Given the description of an element on the screen output the (x, y) to click on. 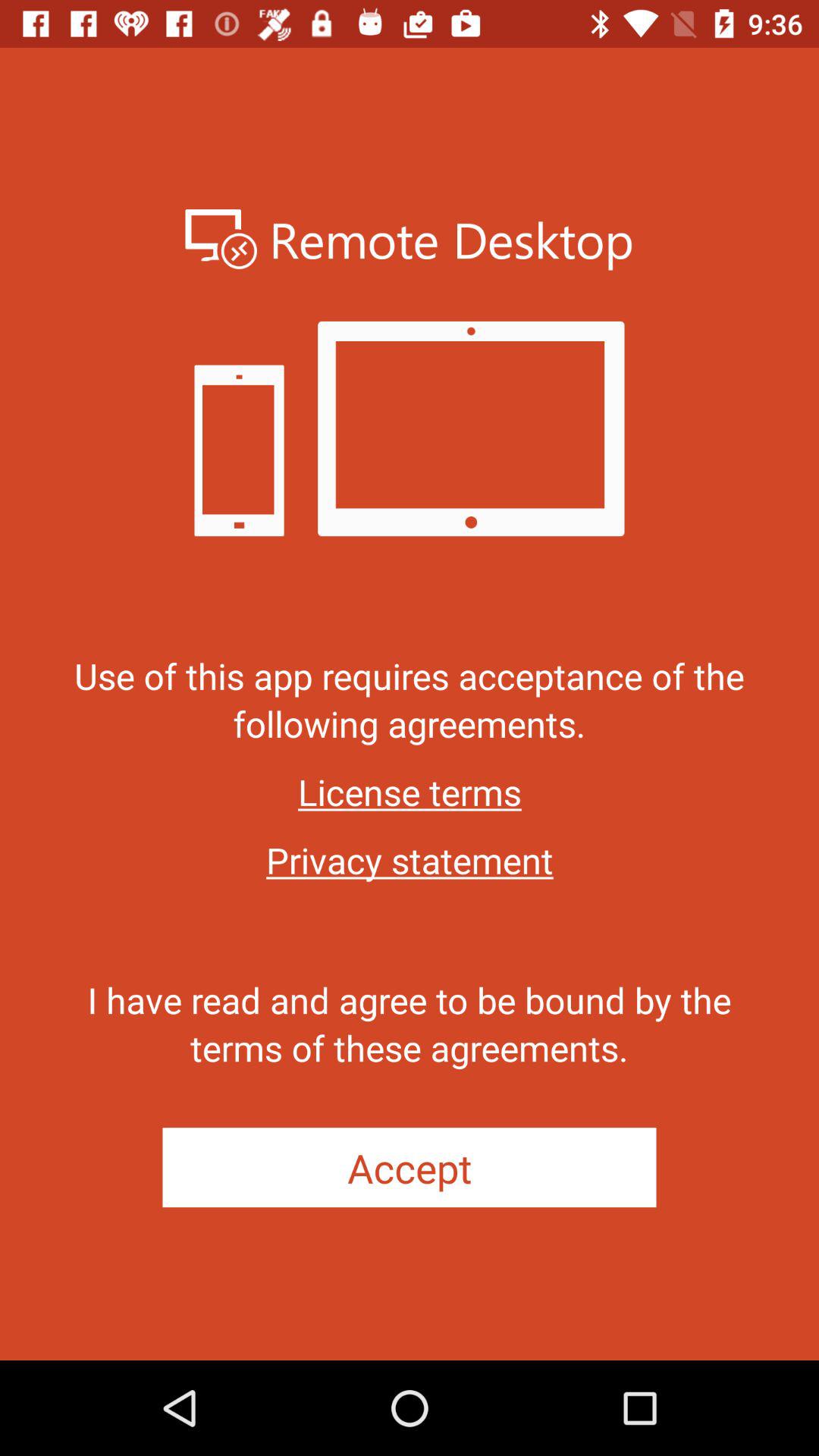
click accept icon (409, 1167)
